Given the description of an element on the screen output the (x, y) to click on. 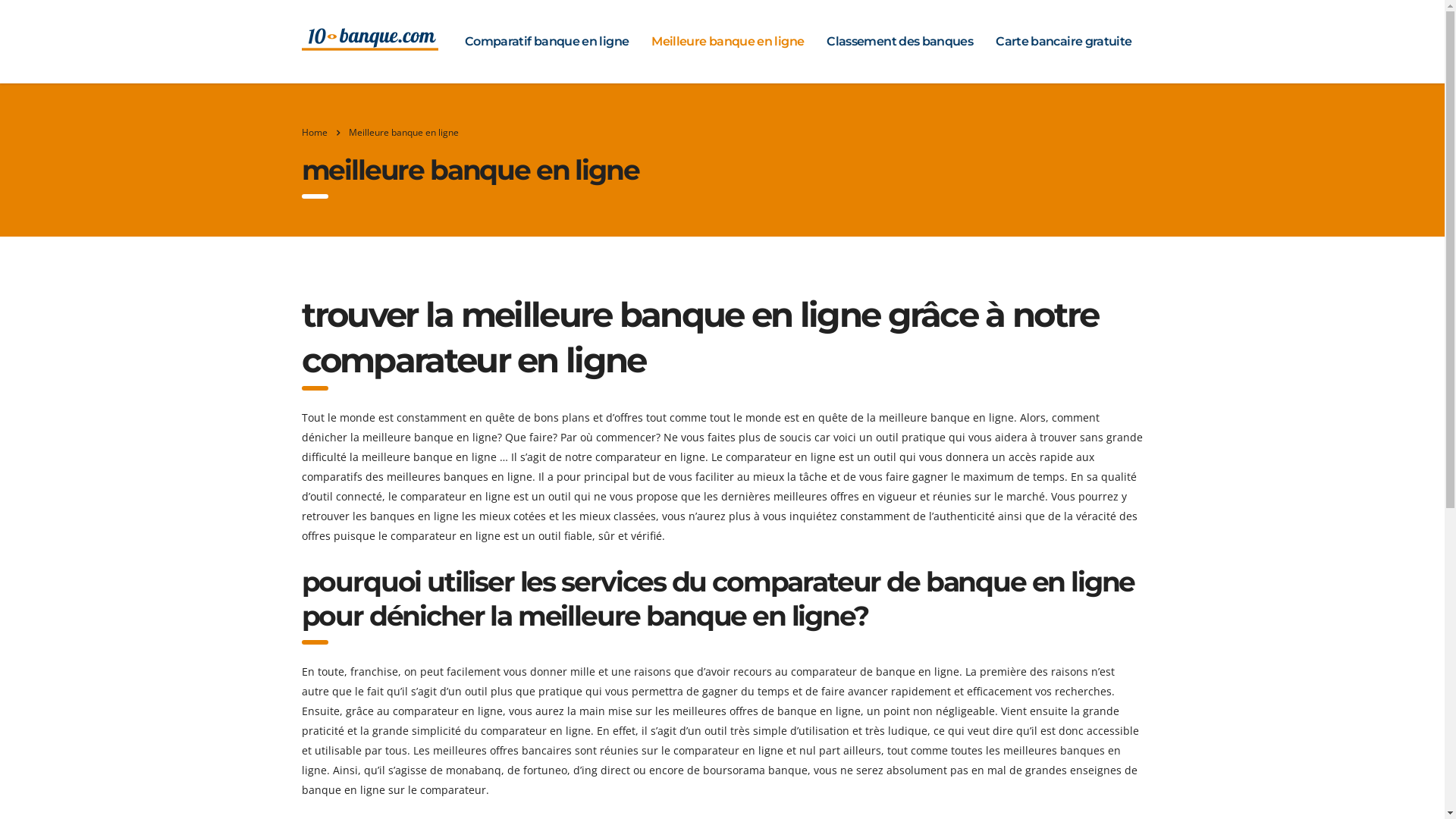
Classement des banques Element type: text (899, 41)
Comparatif banque en ligne Element type: text (546, 41)
Home Element type: text (314, 131)
Carte bancaire gratuite Element type: text (1063, 41)
Meilleure banque en ligne Element type: text (727, 41)
